Given the description of an element on the screen output the (x, y) to click on. 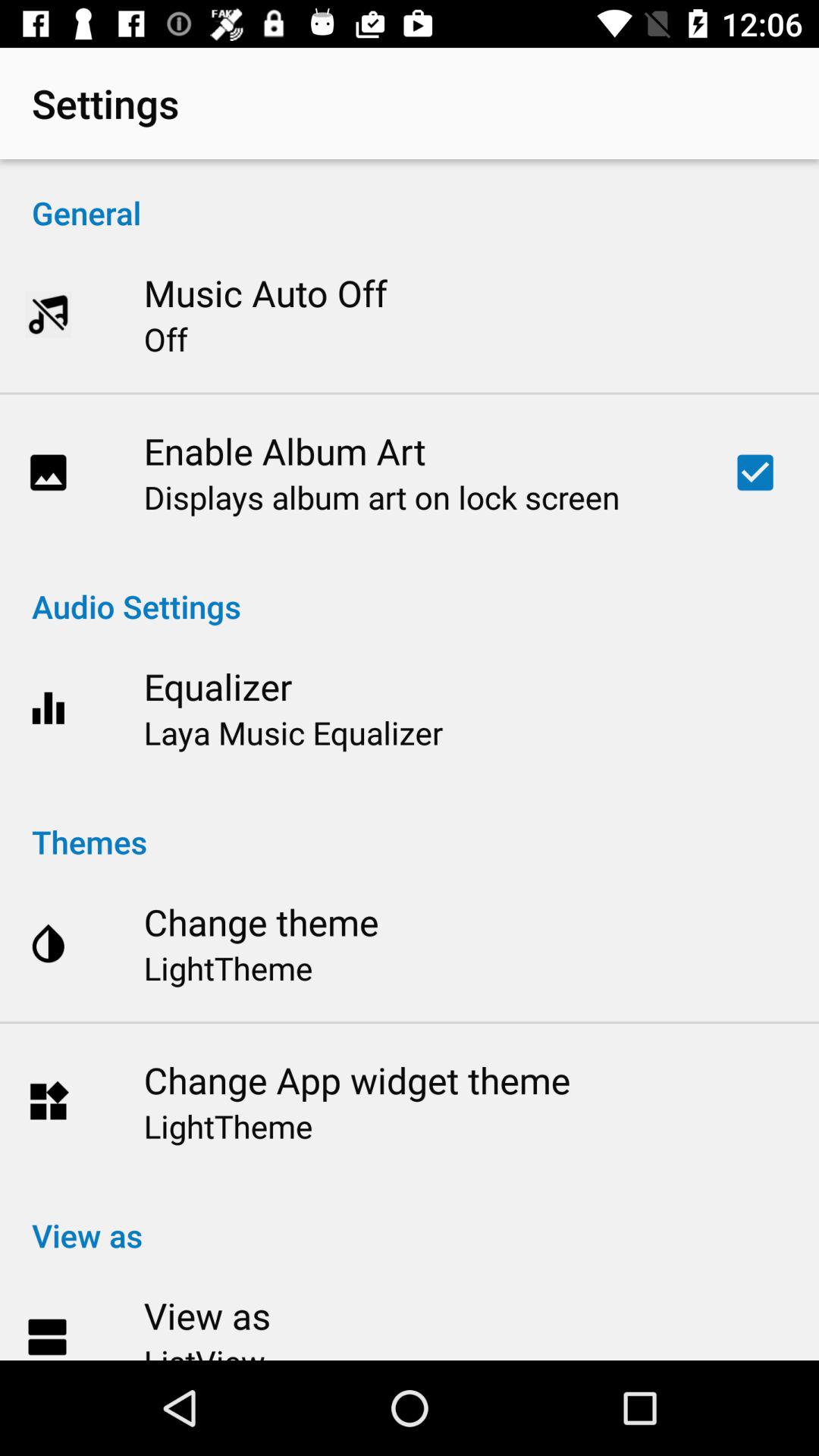
tap item above the music auto off item (409, 196)
